Given the description of an element on the screen output the (x, y) to click on. 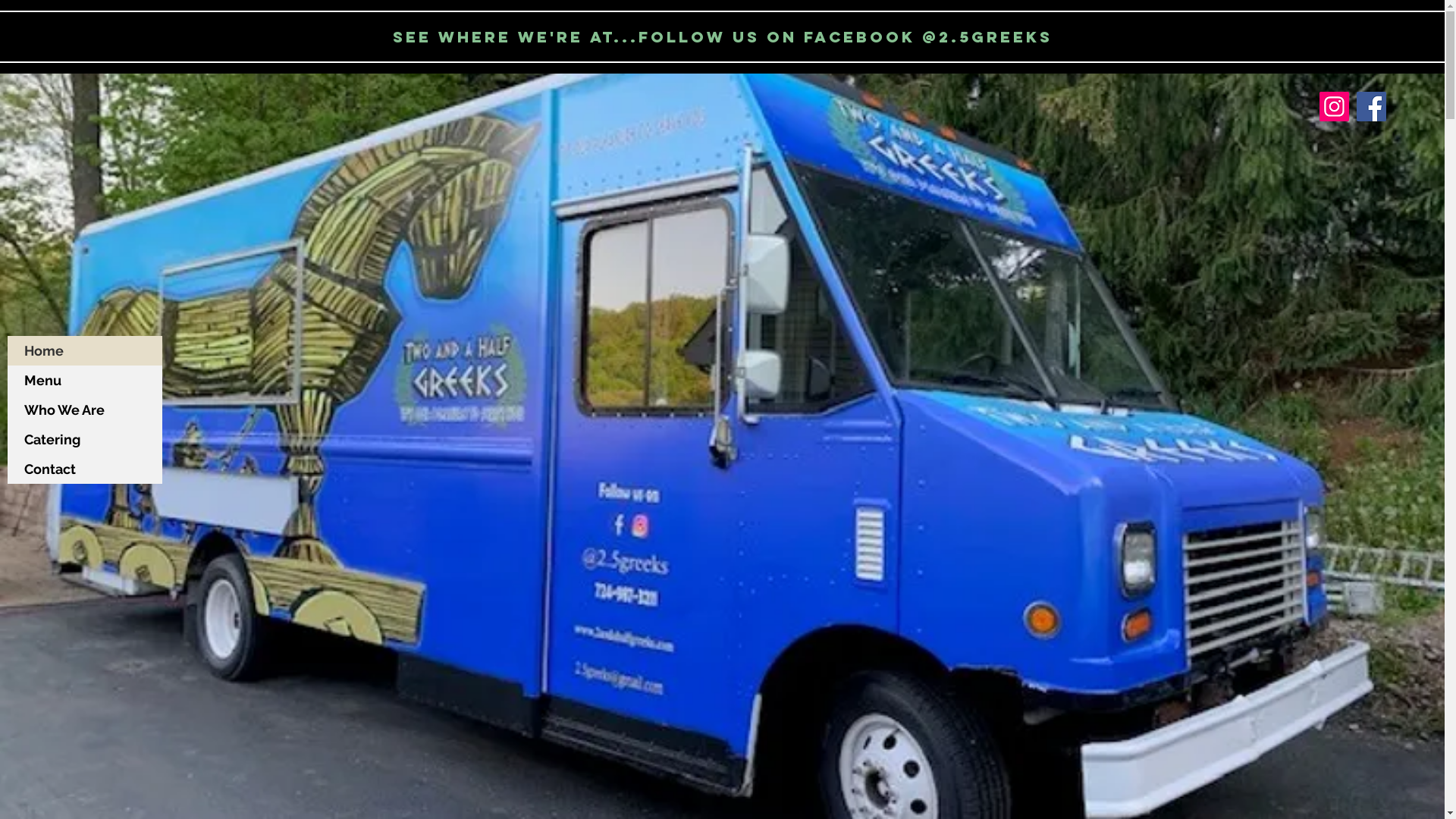
Catering Element type: text (84, 439)
See where we're at...Follow us on FACEBOOK @2.5greeks Element type: text (722, 36)
Contact Element type: text (84, 468)
Who We Are Element type: text (84, 408)
Home Element type: text (84, 349)
Menu Element type: text (84, 380)
